Given the description of an element on the screen output the (x, y) to click on. 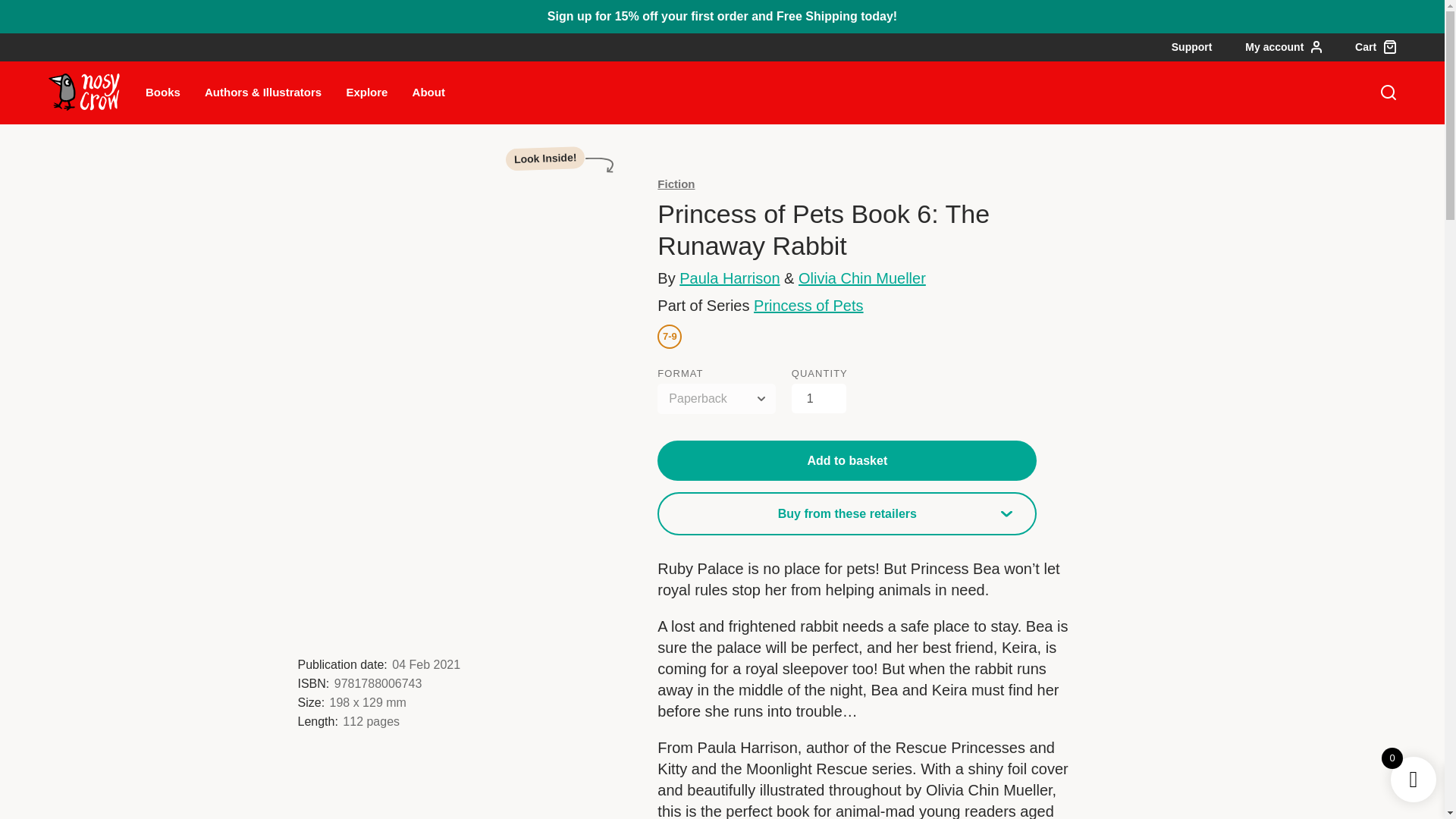
Books (162, 91)
Support (1192, 46)
1 (818, 398)
My account (1283, 46)
Skip to content (75, 12)
Cart (1375, 46)
